Given the description of an element on the screen output the (x, y) to click on. 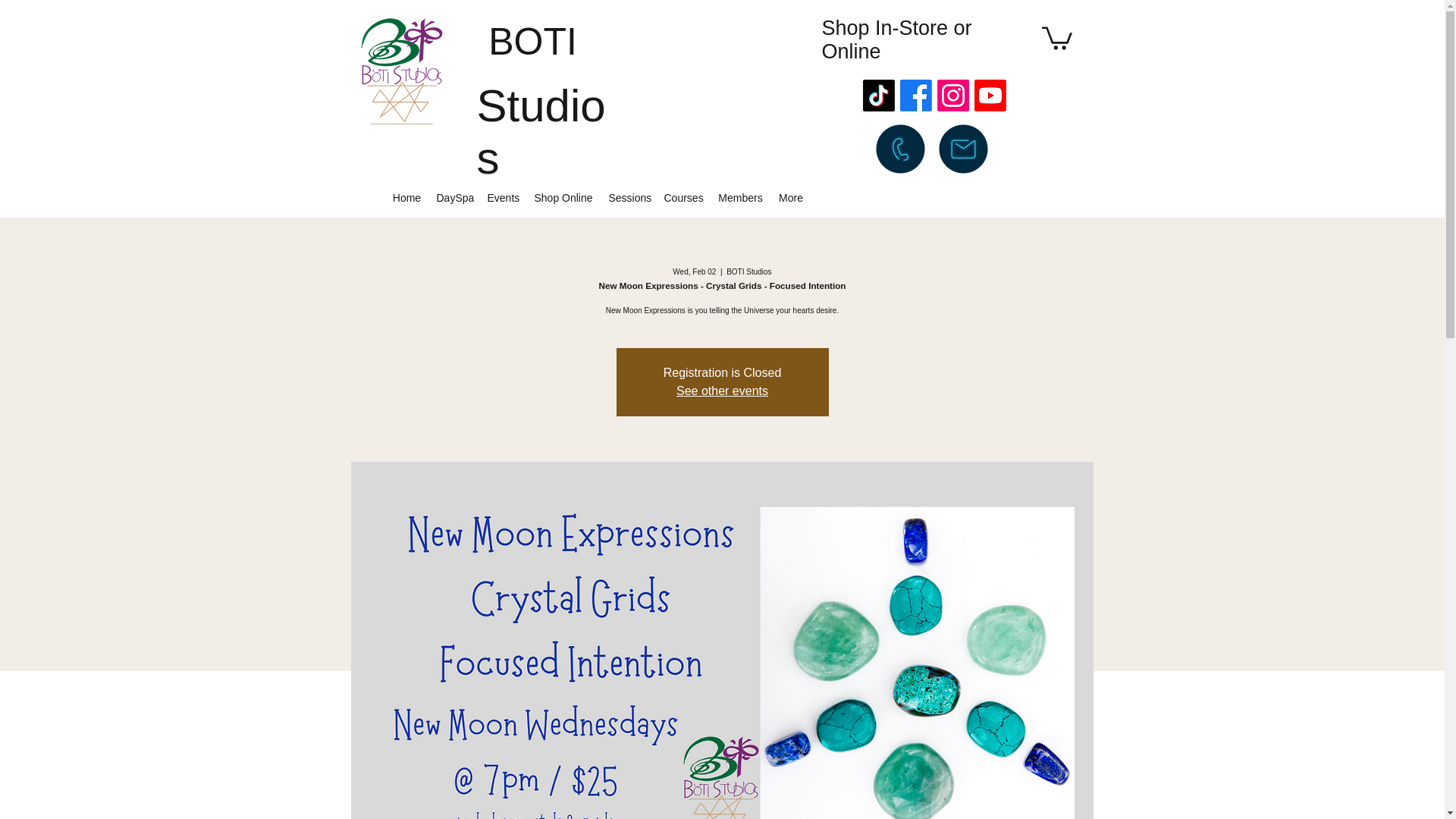
BOTI (531, 41)
See other events (722, 390)
DaySpa (454, 197)
Sessions (627, 197)
Home (407, 197)
Members (740, 197)
Courses (683, 197)
Events (502, 197)
Shop Online (563, 197)
